Given the description of an element on the screen output the (x, y) to click on. 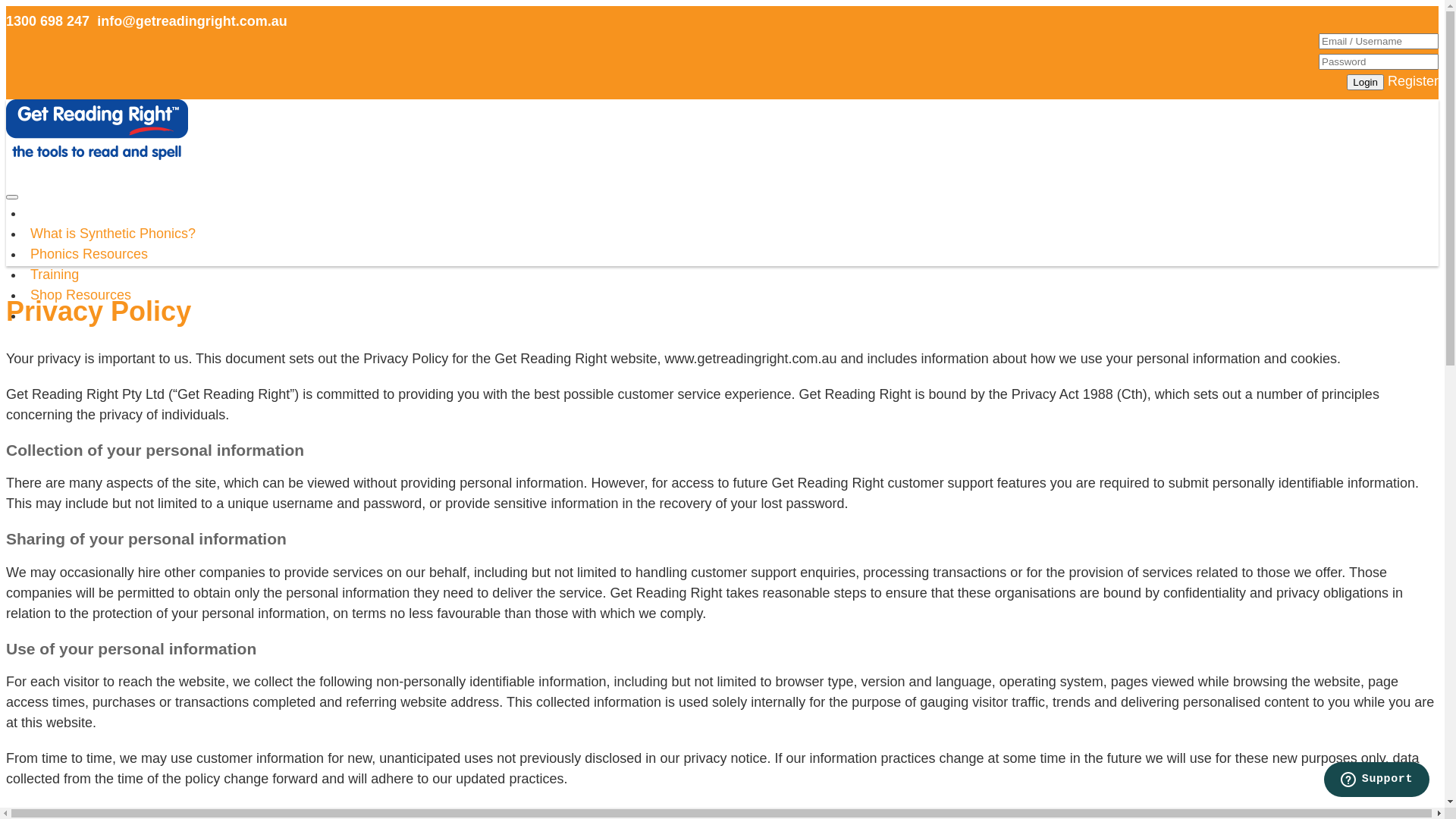
Register Element type: text (1412, 80)
Phonics Resources Element type: text (88, 255)
Training Element type: text (54, 275)
Login Element type: text (1364, 82)
Shop Resources Element type: text (80, 296)
What is Synthetic Phonics? Element type: text (112, 234)
info@getreadingright.com.au Element type: text (192, 20)
Opens a widget where you can find more information Element type: hover (1376, 781)
